Given the description of an element on the screen output the (x, y) to click on. 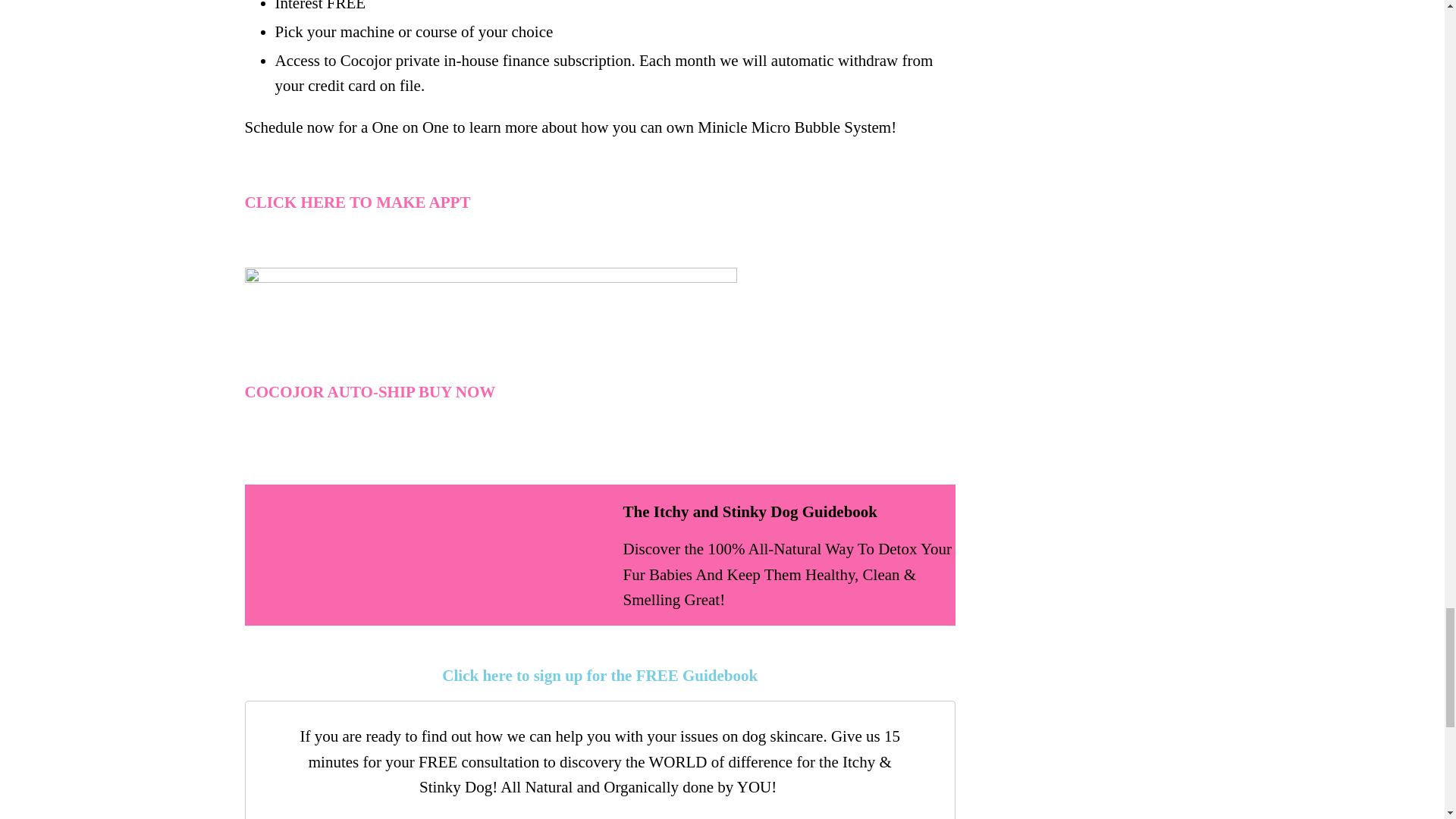
COCOJOR AUTO-SHIP BUY NOW (369, 392)
CLICK HERE TO MAKE APPT (357, 202)
